Given the description of an element on the screen output the (x, y) to click on. 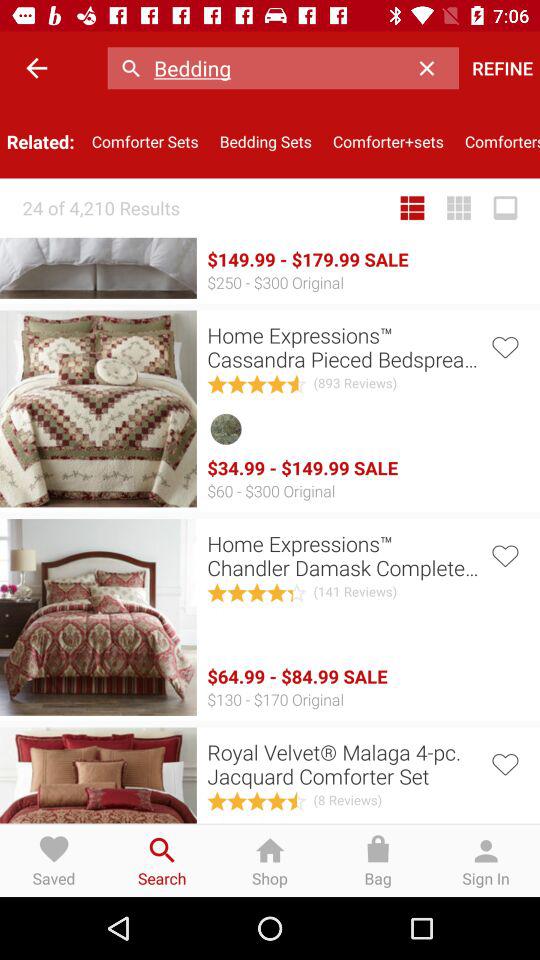
turn on icon to the left of comforter sets (36, 68)
